Given the description of an element on the screen output the (x, y) to click on. 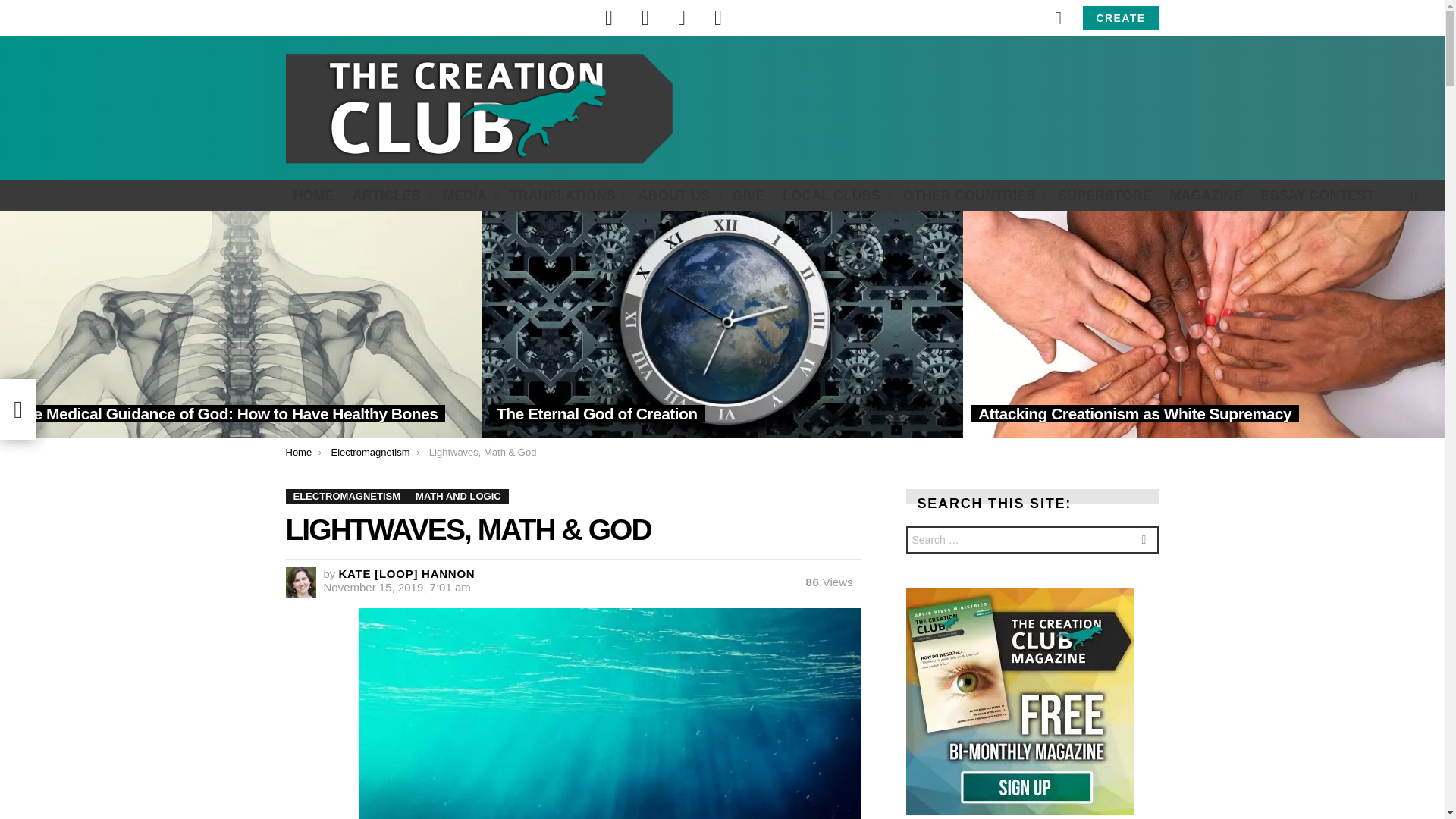
The Medical Guidance of God: How to Have Healthy Bones (240, 324)
HOME (312, 195)
ARTICLES (387, 195)
ABOUT US (676, 195)
twitter (645, 18)
The Eternal God of Creation (721, 324)
TRANSLATIONS (564, 195)
LOCAL CLUBS (834, 195)
facebook (609, 18)
instagram (681, 18)
